Given the description of an element on the screen output the (x, y) to click on. 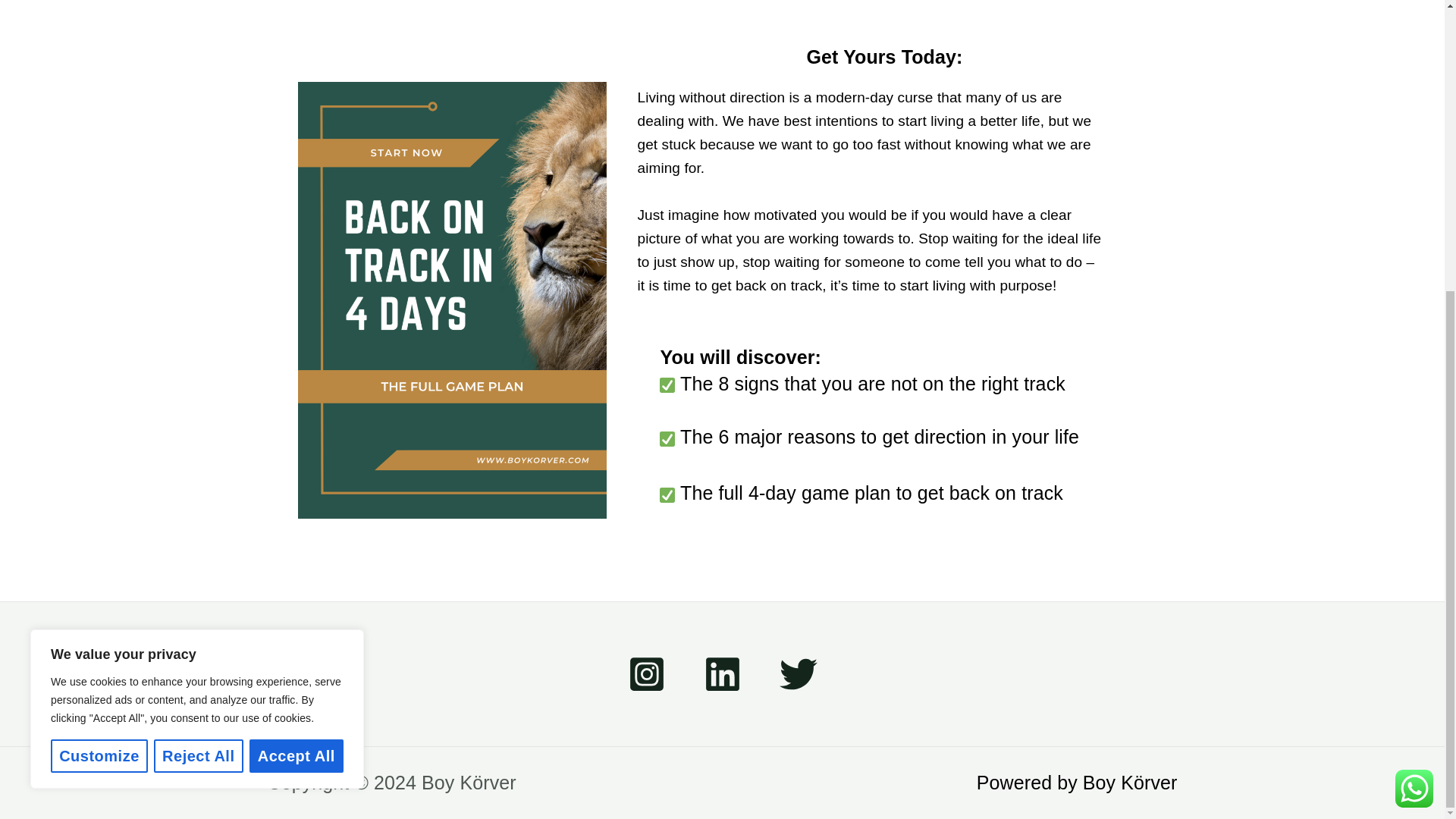
Accept All (295, 312)
Reject All (198, 312)
Customize (99, 312)
